Given the description of an element on the screen output the (x, y) to click on. 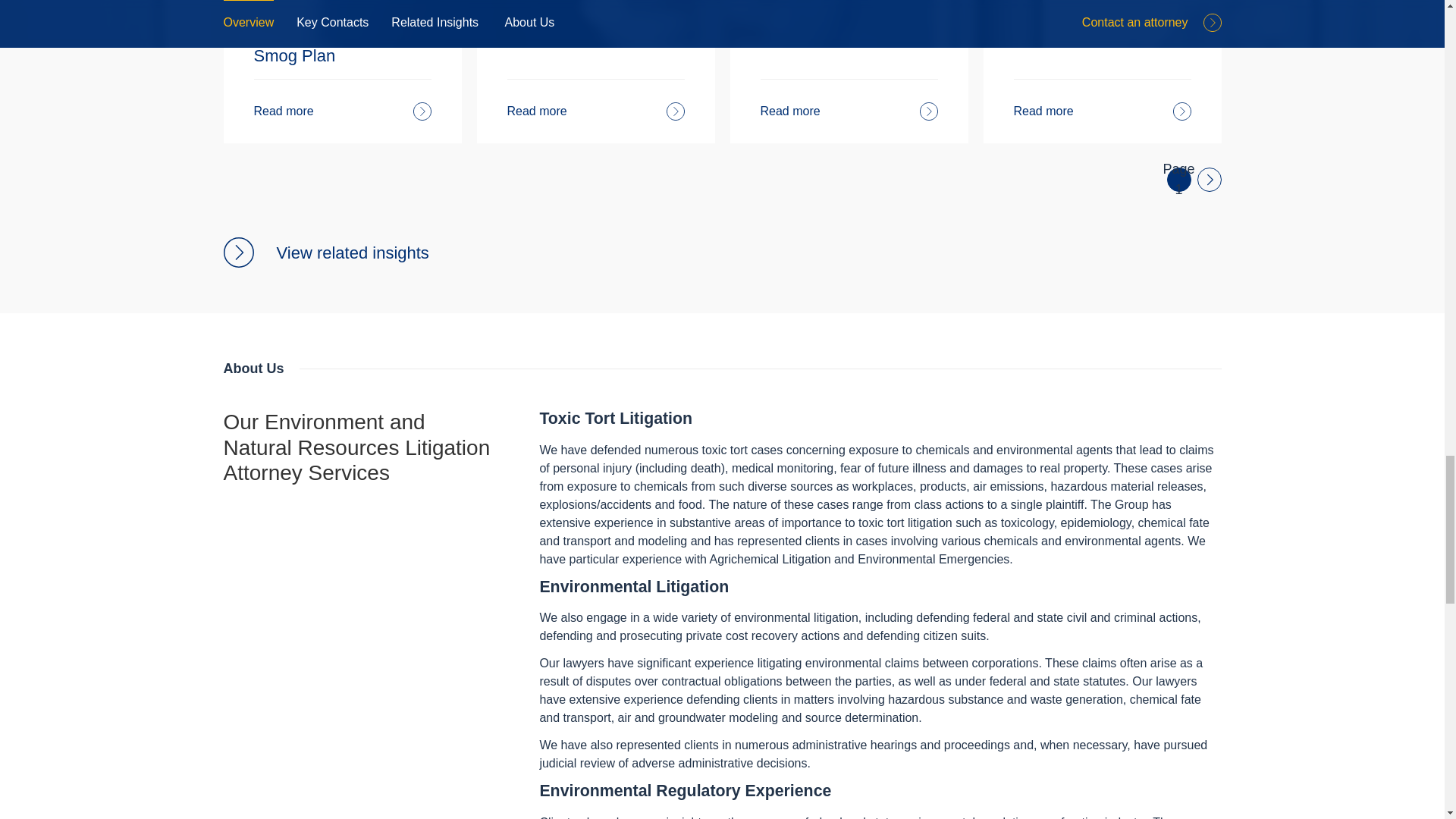
Go to next page (1209, 179)
